Given the description of an element on the screen output the (x, y) to click on. 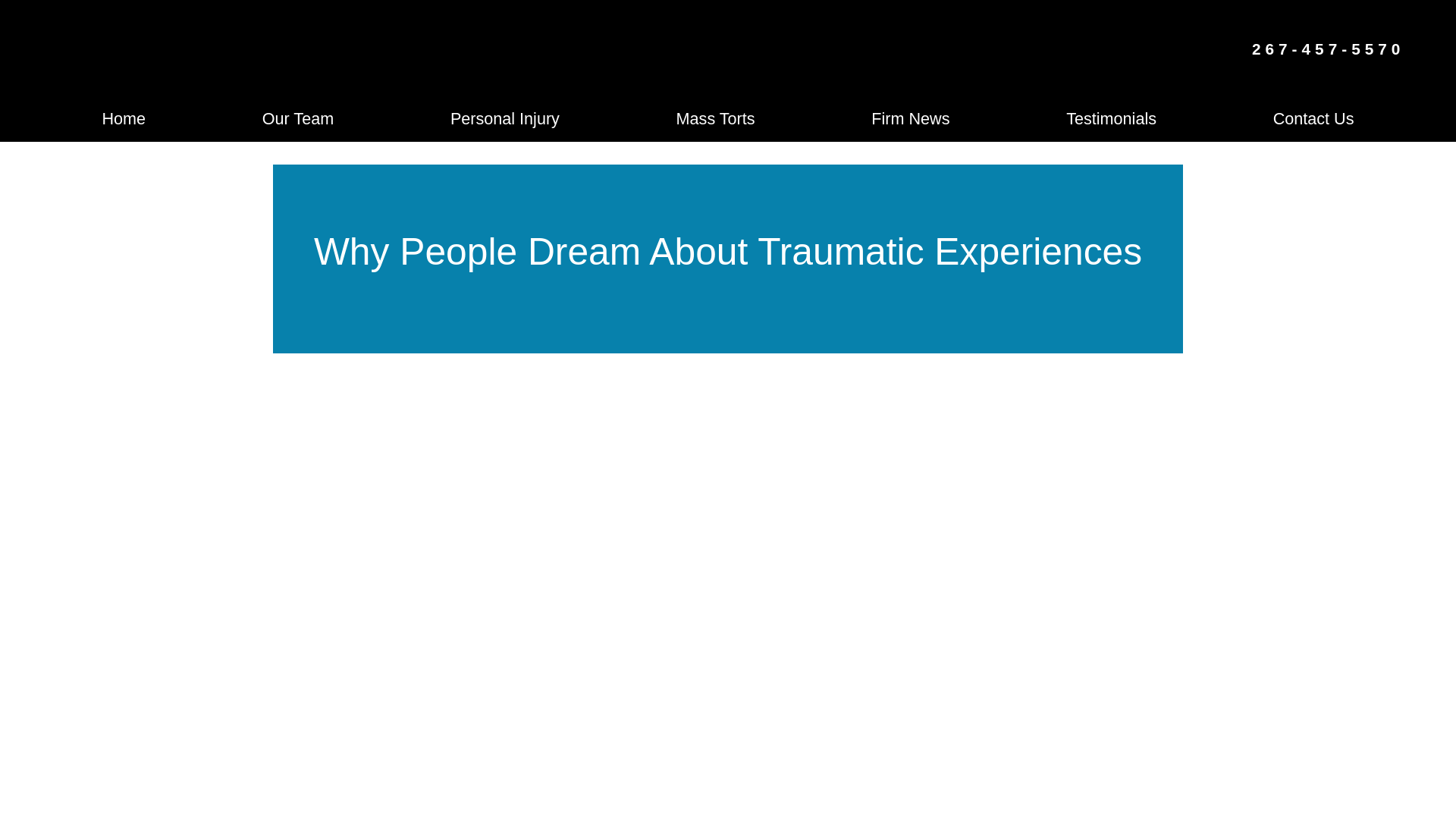
Our Team (297, 118)
Personal Injury (504, 118)
267-457-5570 (1328, 49)
Home (123, 118)
